Given the description of an element on the screen output the (x, y) to click on. 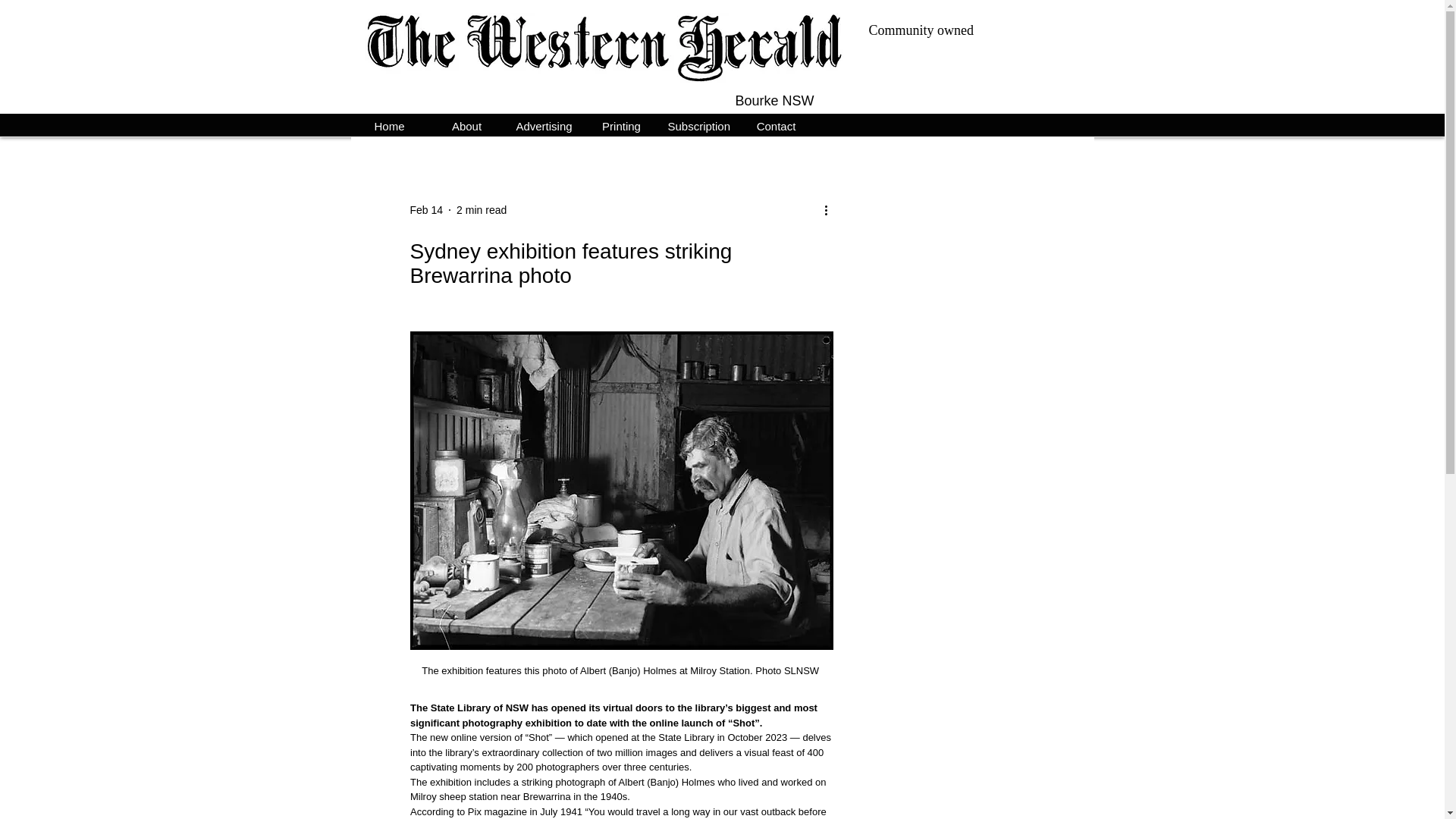
Home (389, 124)
2 min read (481, 209)
Contact (774, 124)
About (466, 124)
Advertising (543, 124)
Subscription (697, 124)
Feb 14 (425, 209)
Printing (620, 124)
